Given the description of an element on the screen output the (x, y) to click on. 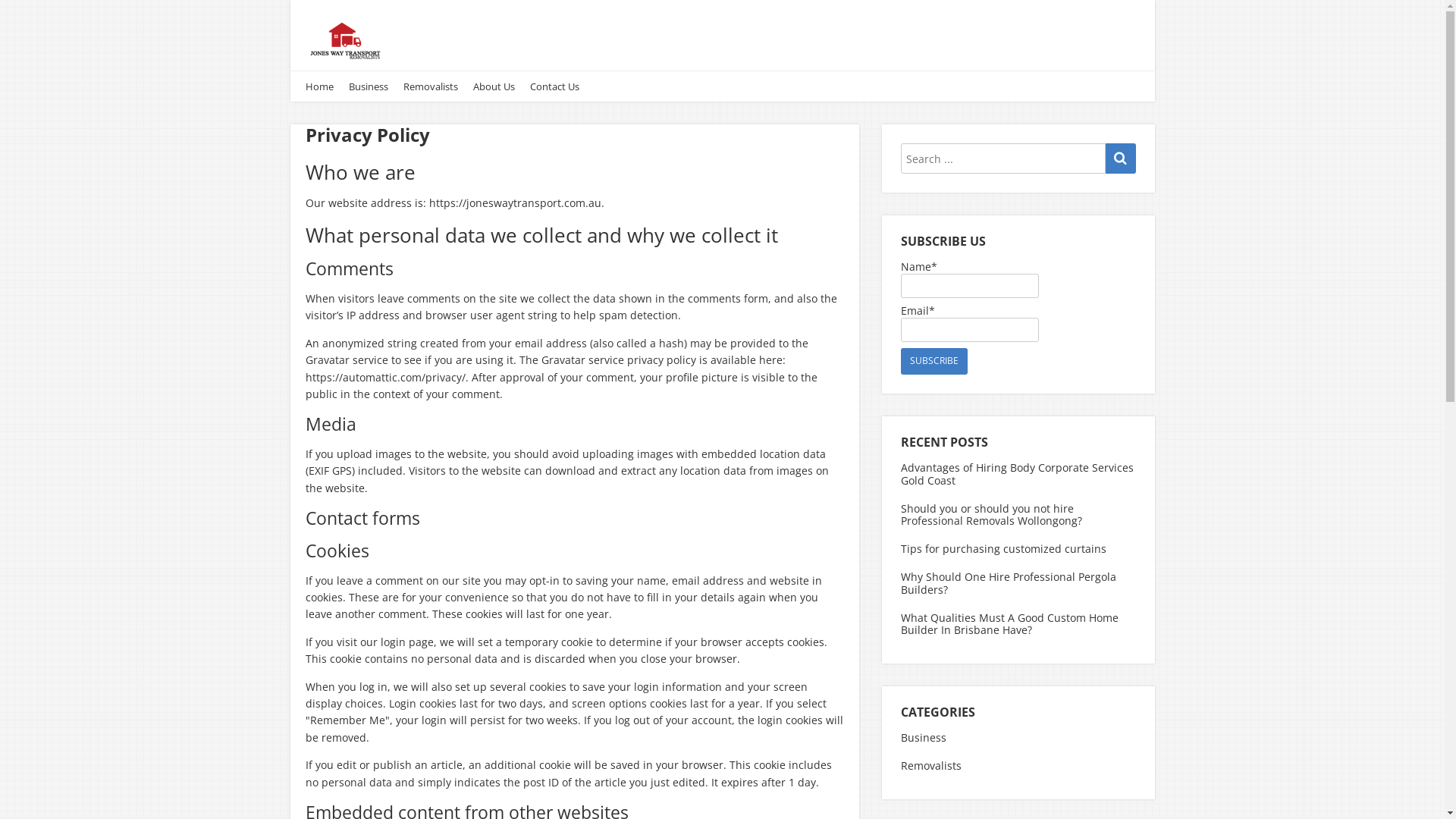
Tips for purchasing customized curtains Element type: text (1003, 548)
Why Should One Hire Professional Pergola Builders? Element type: text (1008, 582)
Advantages of Hiring Body Corporate Services Gold Coast Element type: text (1016, 473)
About Us Element type: text (493, 86)
Removalists Element type: text (934, 765)
Home Element type: text (318, 86)
Subscribe Element type: text (933, 360)
Business Element type: text (368, 86)
Business Element type: text (926, 737)
Removalists Element type: text (430, 86)
Contact Us Element type: text (553, 86)
